Given the description of an element on the screen output the (x, y) to click on. 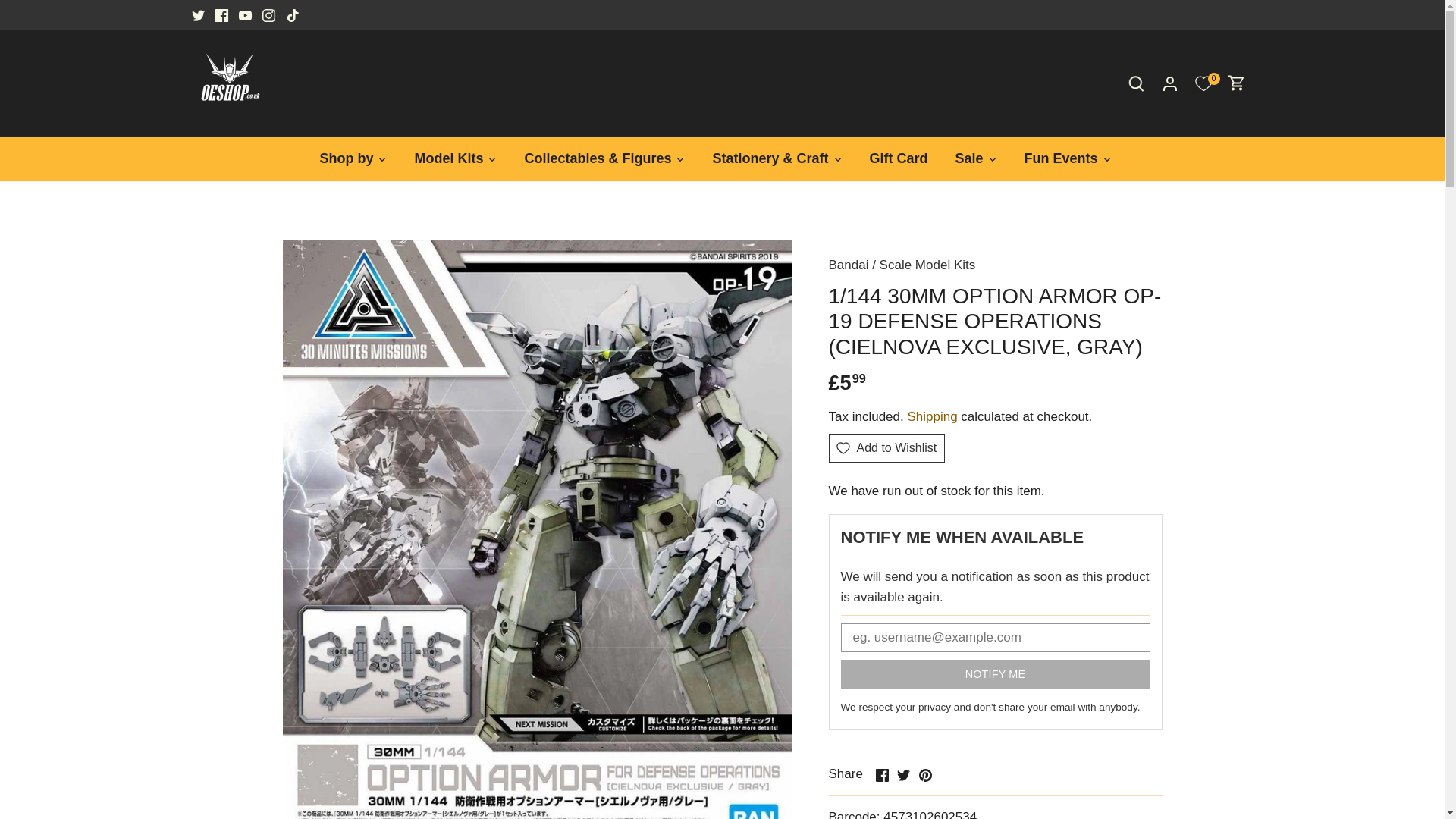
Facebook (881, 775)
Shop by (352, 158)
Twitter (903, 775)
Facebook (221, 15)
Twitter (196, 15)
Pinterest (924, 775)
Youtube (244, 15)
Instagram (268, 15)
